Given the description of an element on the screen output the (x, y) to click on. 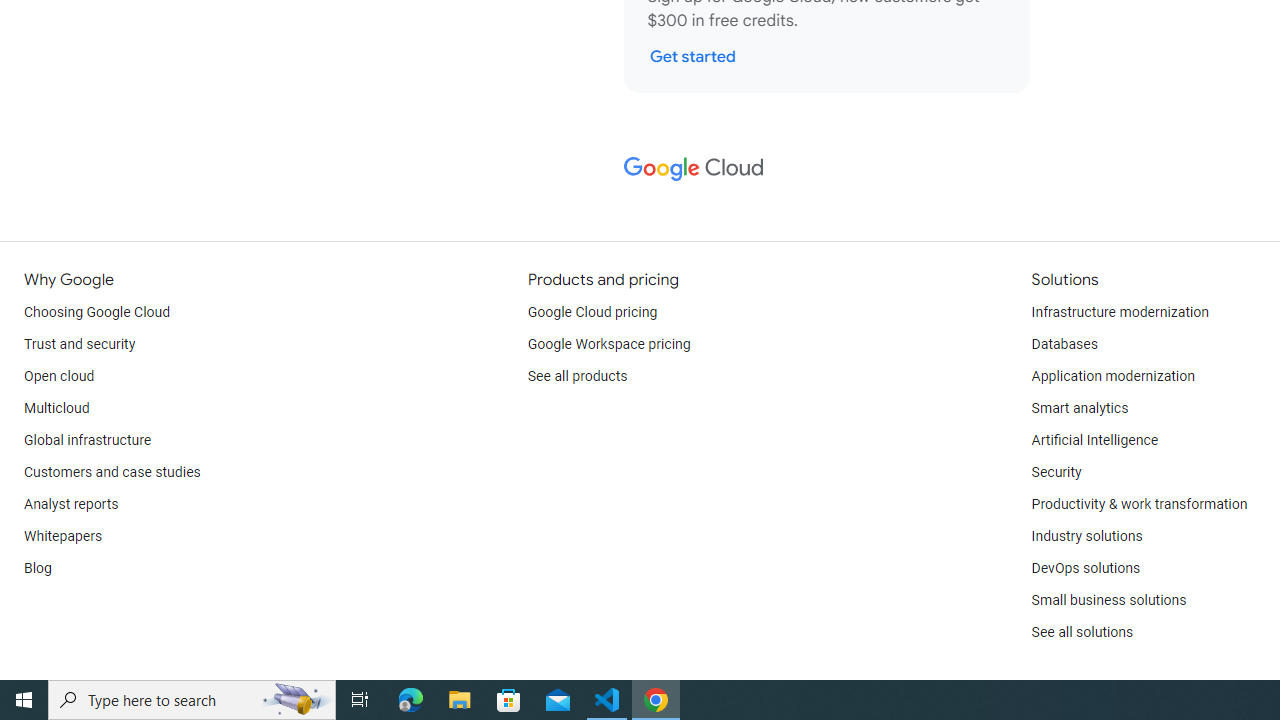
Whitepapers (63, 536)
Databases (1064, 344)
Blog (38, 568)
Infrastructure modernization (1119, 312)
Security (1055, 472)
Open cloud (59, 376)
Customers and case studies (112, 472)
Productivity & work transformation (1139, 504)
Google Cloud (692, 168)
Analyst reports (71, 504)
See all products (577, 376)
Small business solutions (1108, 600)
Choosing Google Cloud (97, 312)
Trust and security (79, 344)
Multicloud (56, 408)
